Given the description of an element on the screen output the (x, y) to click on. 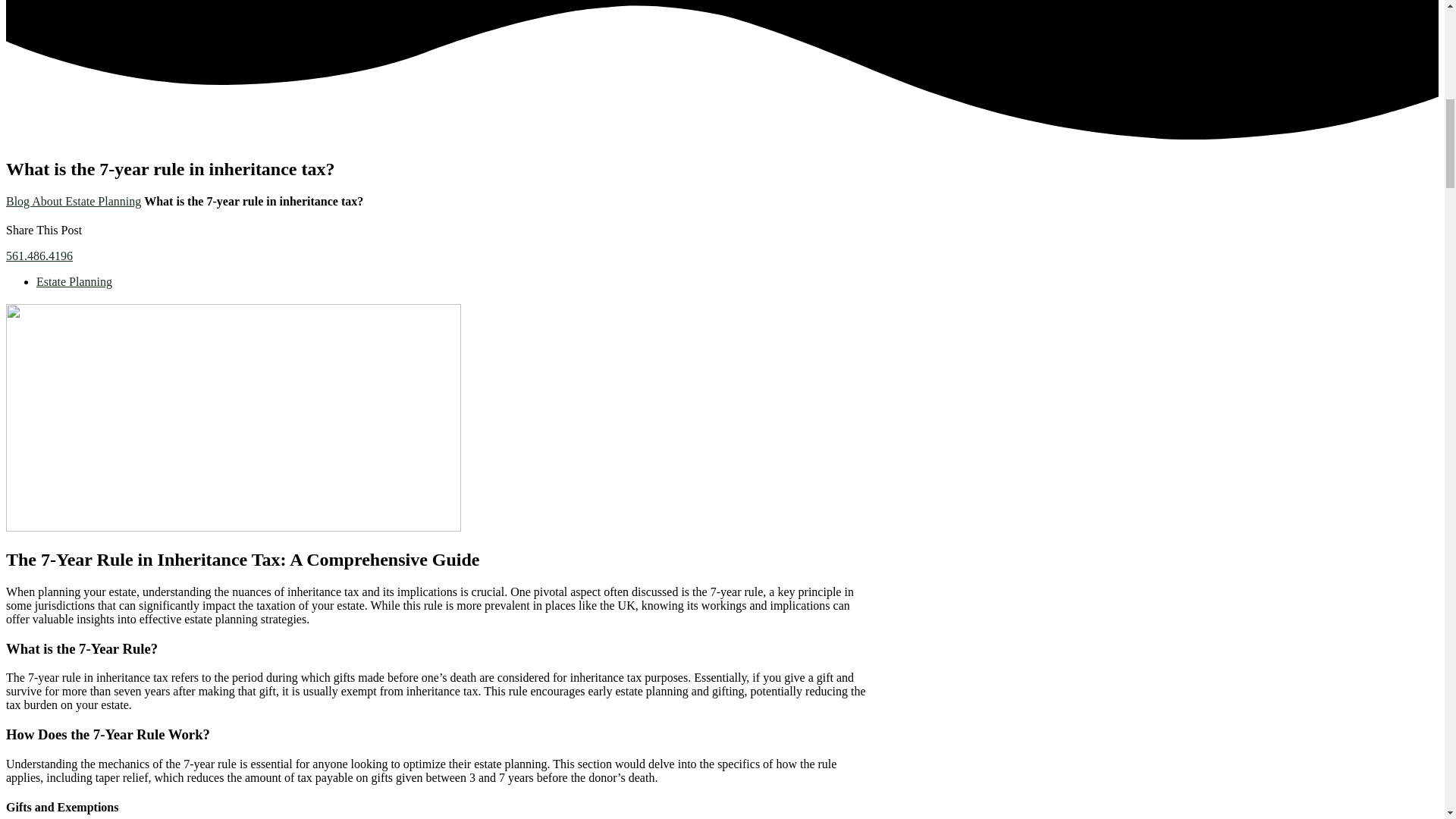
561.486.4196 (38, 255)
Estate Planning (74, 281)
Blog About Estate Planning (73, 201)
